Given the description of an element on the screen output the (x, y) to click on. 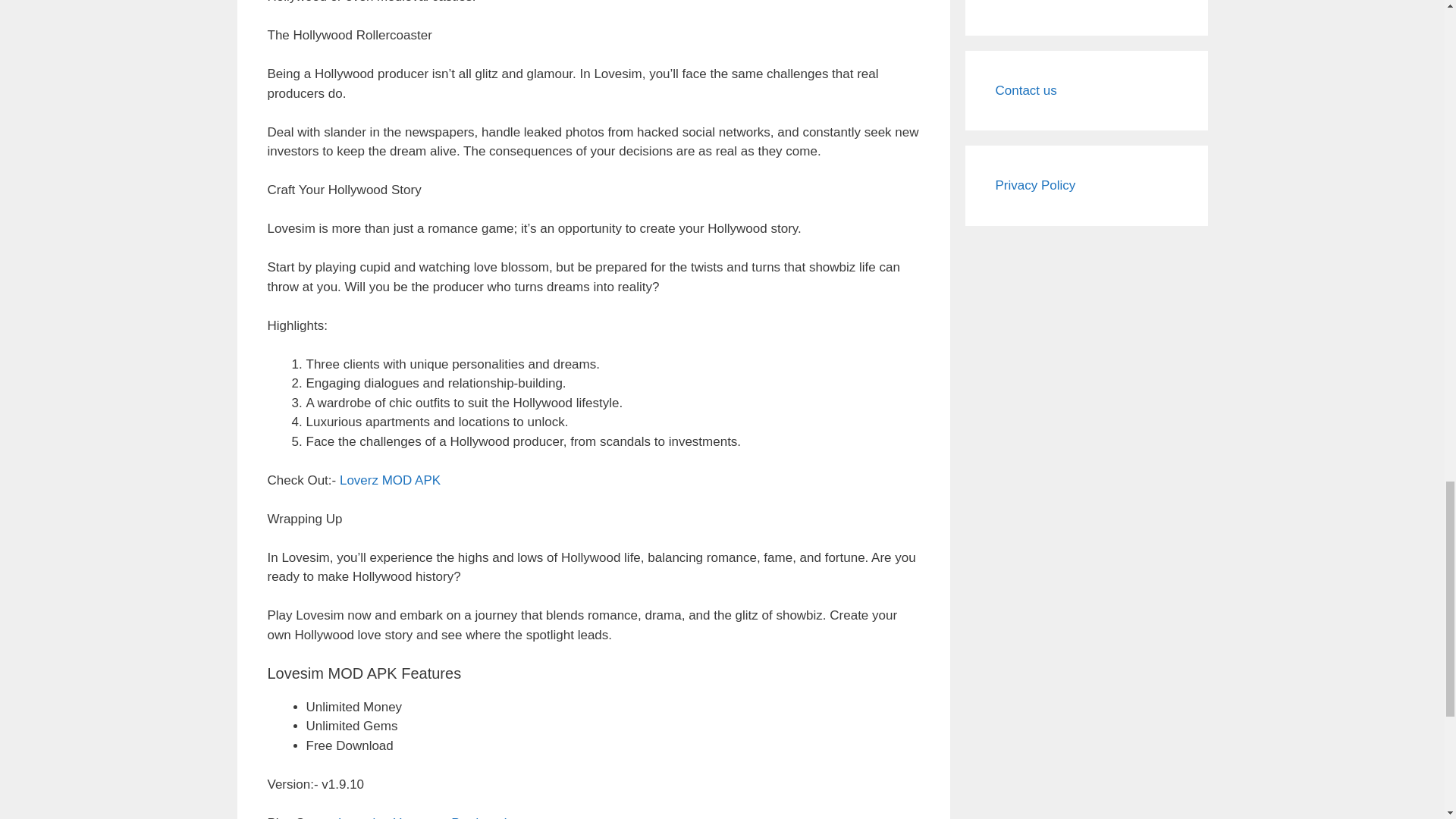
Loverz MOD APK (390, 480)
Lovesim: You are a Producer! (421, 817)
